Given the description of an element on the screen output the (x, y) to click on. 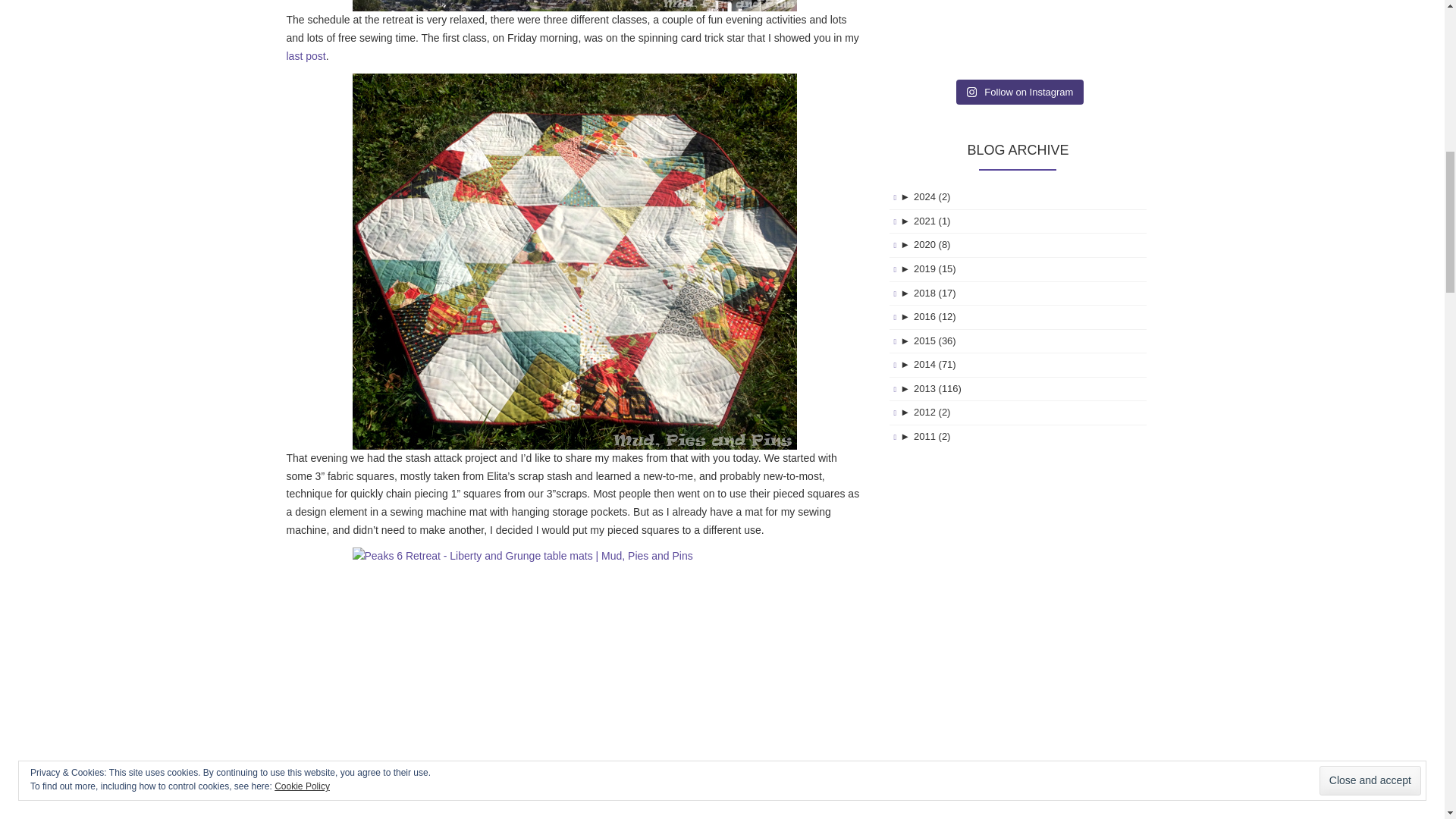
2021 (906, 220)
2021 (932, 220)
2024 (906, 196)
last post (306, 55)
2024 (932, 196)
